Given the description of an element on the screen output the (x, y) to click on. 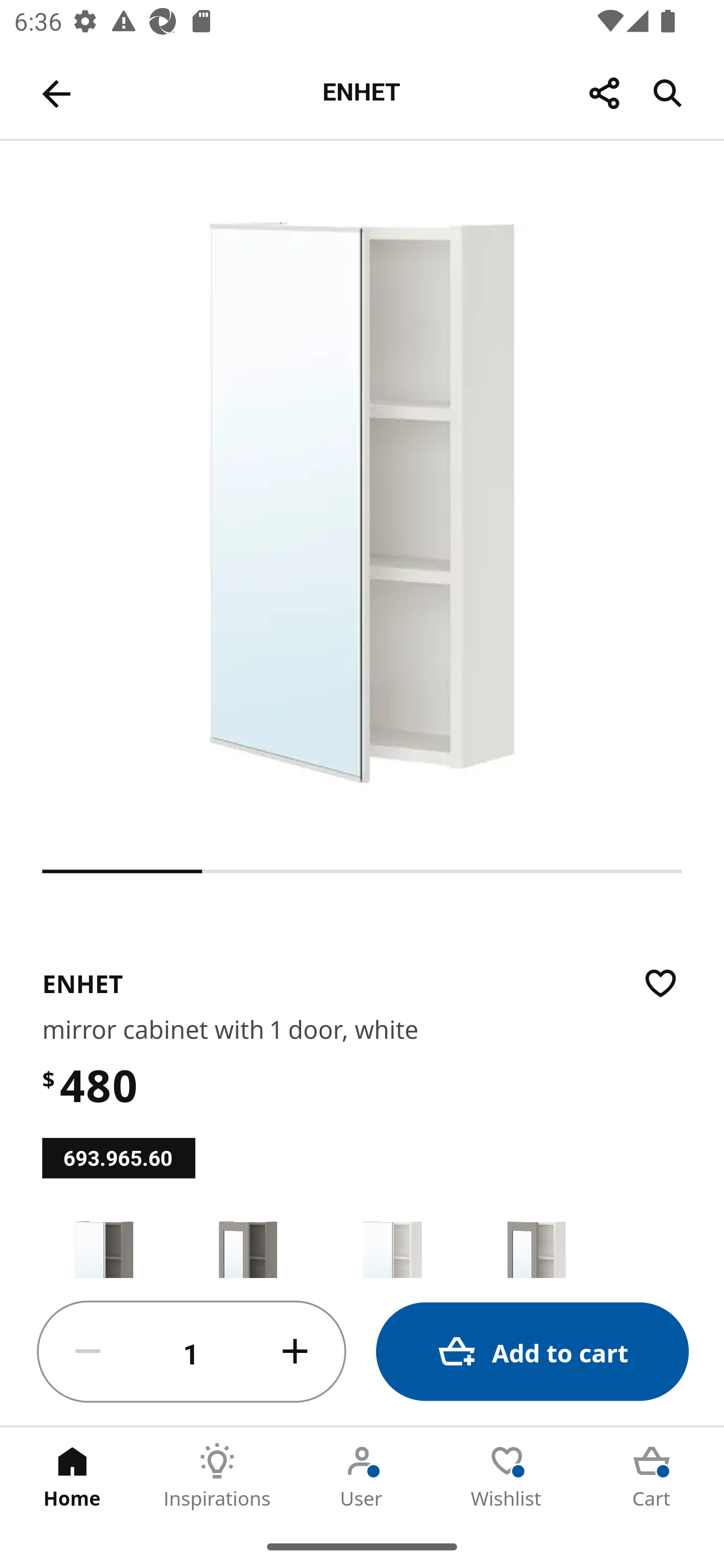
Add to cart (531, 1352)
1 (191, 1352)
Home
Tab 1 of 5 (72, 1476)
Inspirations
Tab 2 of 5 (216, 1476)
User
Tab 3 of 5 (361, 1476)
Wishlist
Tab 4 of 5 (506, 1476)
Cart
Tab 5 of 5 (651, 1476)
